Given the description of an element on the screen output the (x, y) to click on. 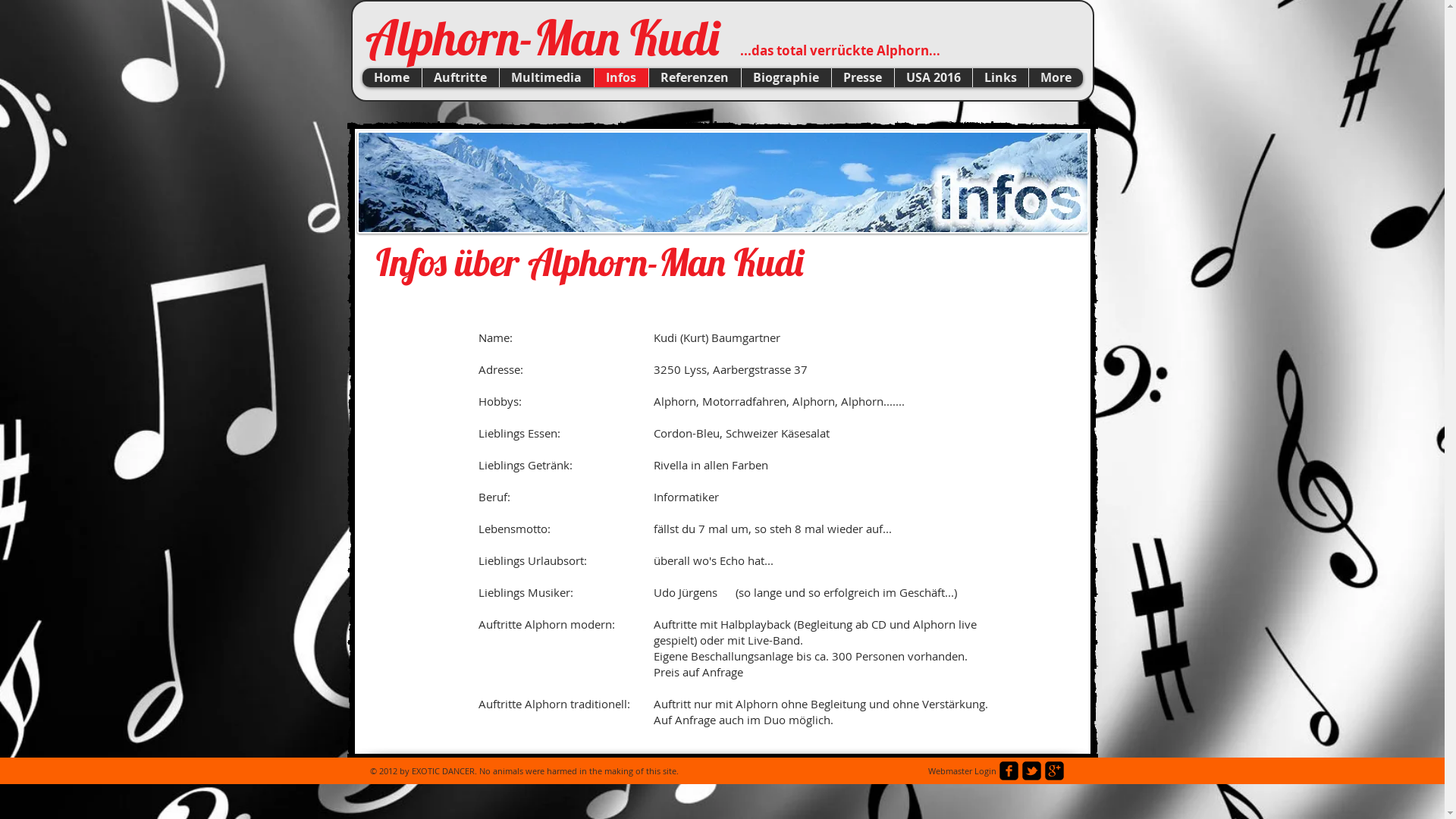
Multimedia Element type: text (545, 77)
Links Element type: text (1000, 77)
Webmaster Login Element type: text (962, 770)
Infos Element type: text (620, 77)
Referenzen Element type: text (693, 77)
Biographie Element type: text (785, 77)
Auftritte Element type: text (459, 77)
USA 2016 Element type: text (932, 77)
Presse Element type: text (862, 77)
Home Element type: text (391, 77)
